Given the description of an element on the screen output the (x, y) to click on. 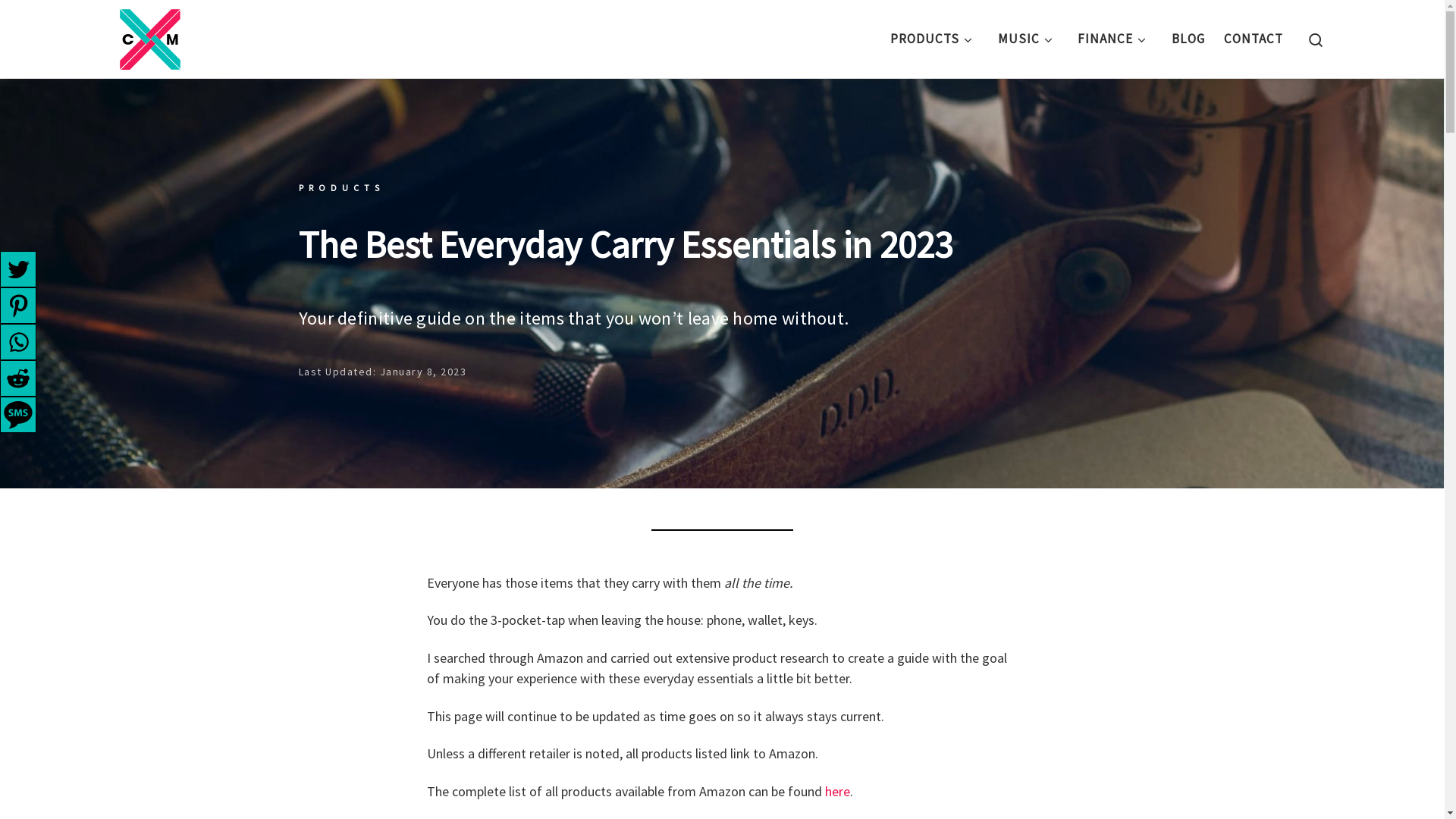
PRODUCTS Element type: text (934, 38)
Skip to content Element type: text (64, 22)
MUSIC Element type: text (1027, 38)
Twitter Element type: hover (18, 269)
BLOG Element type: text (1188, 38)
Reddit Element type: hover (18, 378)
Search Element type: text (1315, 38)
Pinterest Element type: hover (18, 305)
PRODUCTS Element type: text (341, 187)
FINANCE Element type: text (1115, 38)
Whatsapp Element type: hover (18, 341)
SMS Element type: hover (18, 414)
CONTACT Element type: text (1253, 38)
here Element type: text (837, 791)
